Given the description of an element on the screen output the (x, y) to click on. 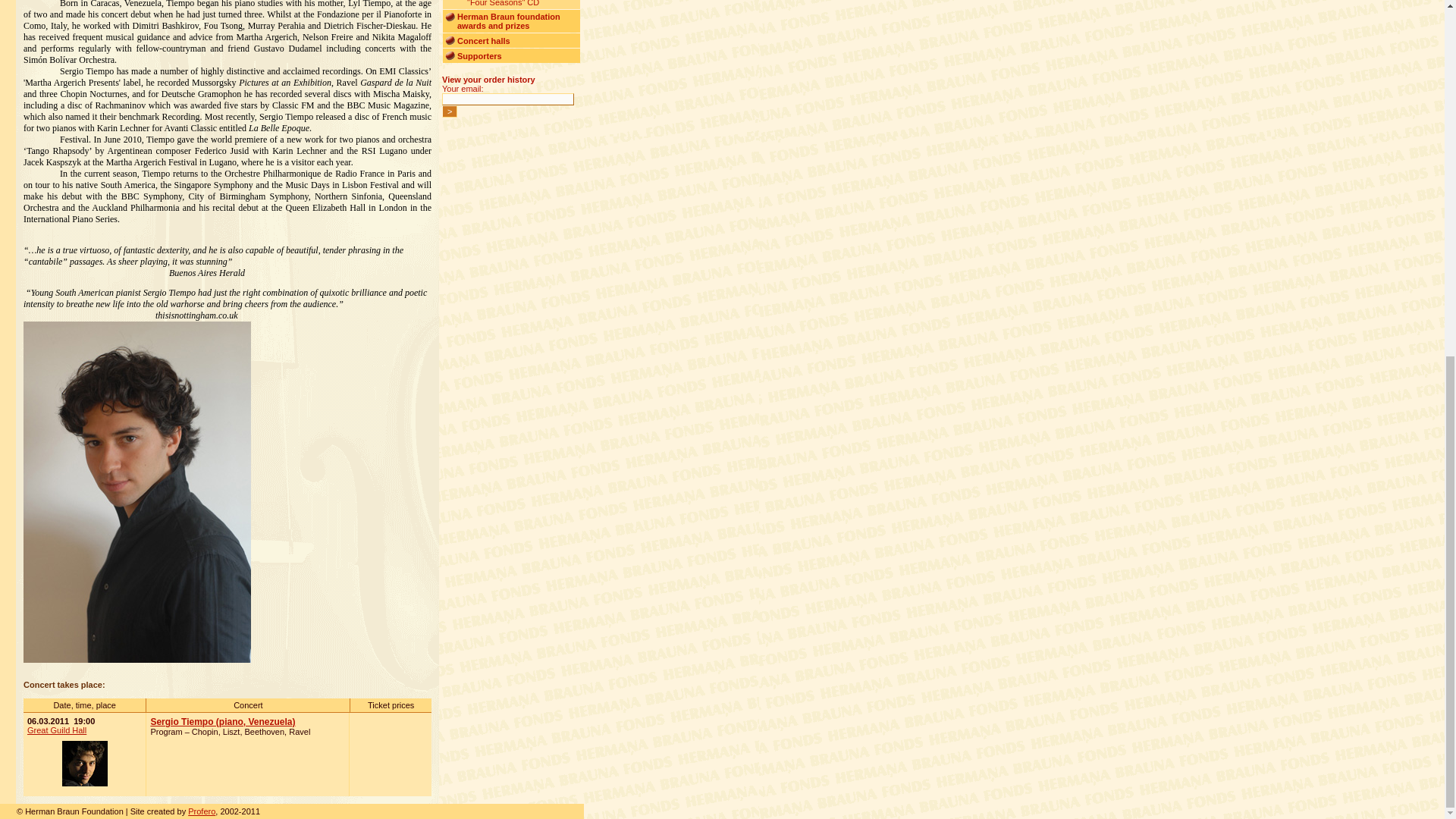
Great Guild Hall (56, 729)
